Given the description of an element on the screen output the (x, y) to click on. 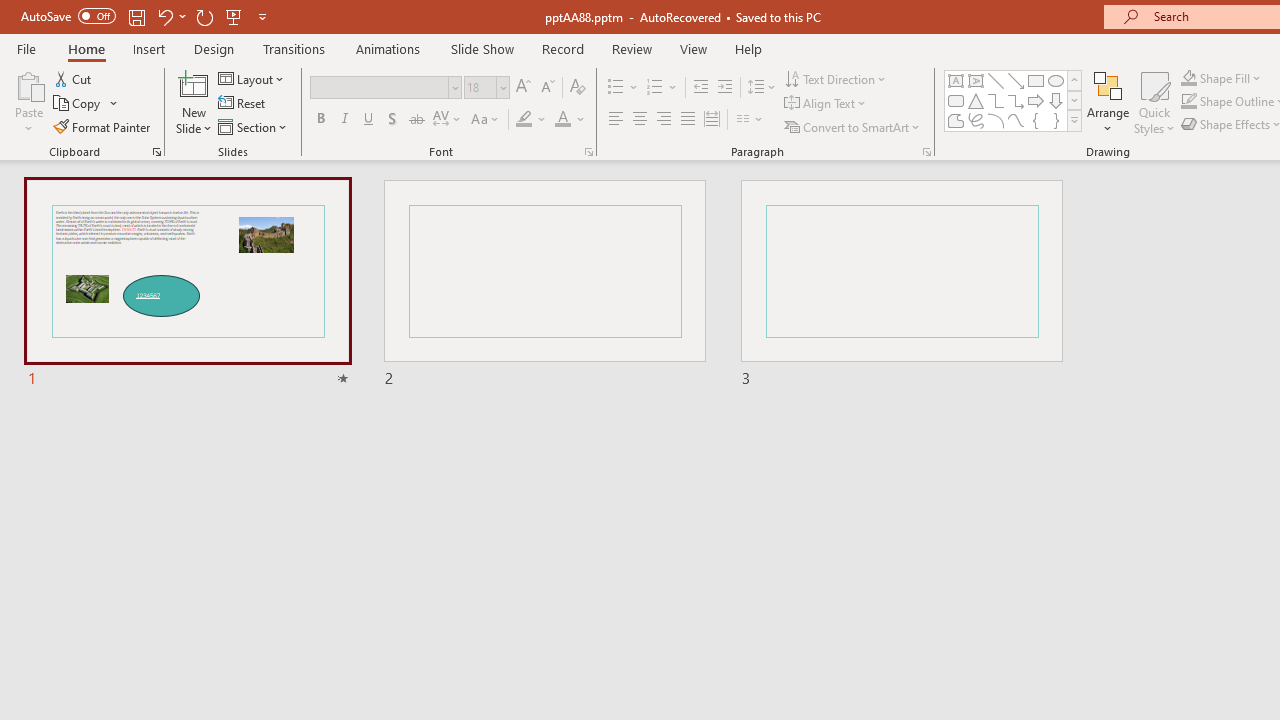
Align Left (616, 119)
Numbering (654, 87)
Font Color Red (562, 119)
Strikethrough (416, 119)
AutoSave (68, 16)
From Beginning (234, 15)
Design (214, 48)
Rectangle (1035, 80)
Connector: Elbow Arrow (1016, 100)
Curve (1016, 120)
Transitions (294, 48)
Bullets (623, 87)
Quick Styles (1154, 102)
Office Clipboard... (156, 151)
